Given the description of an element on the screen output the (x, y) to click on. 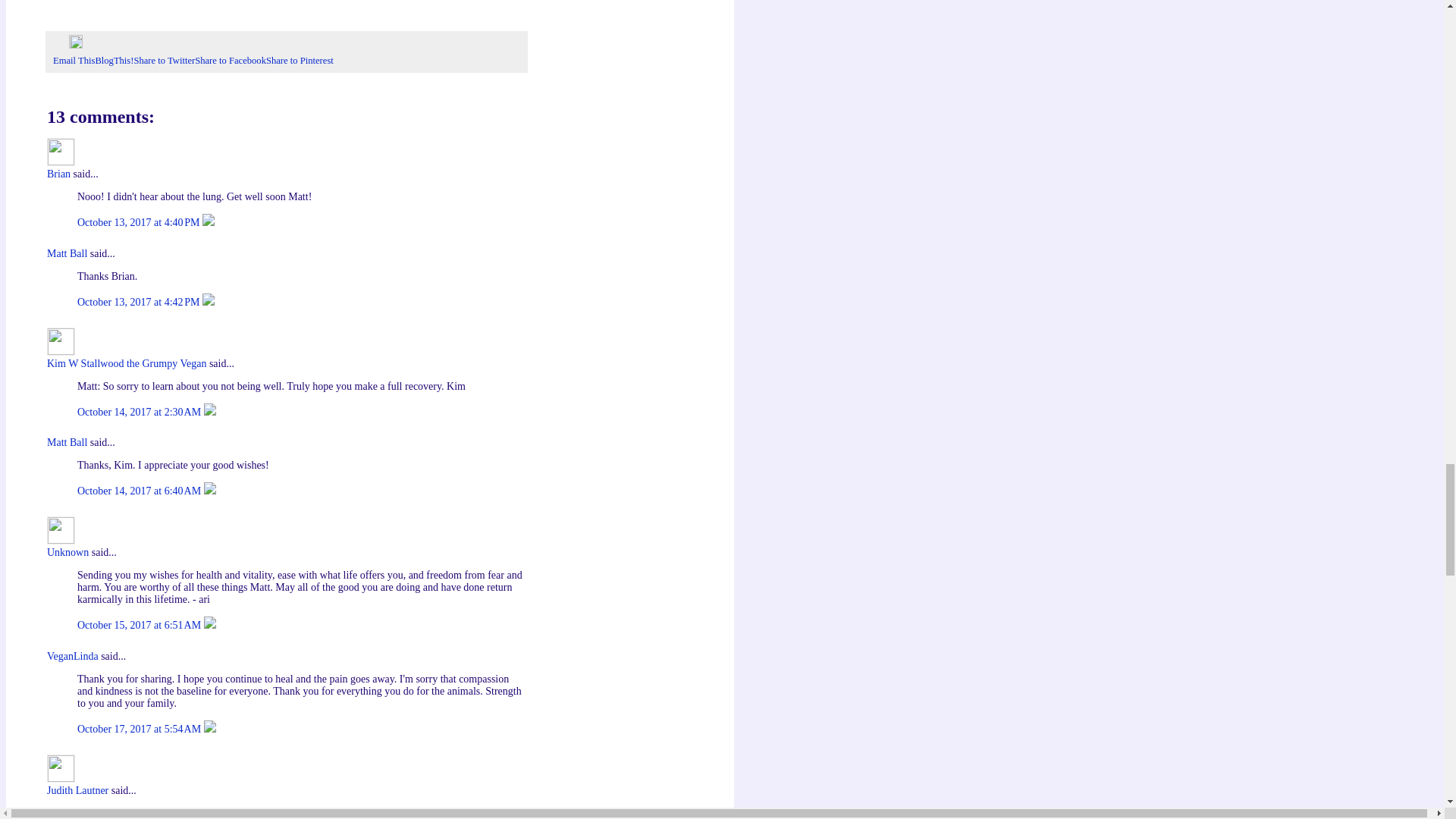
Kim W Stallwood the Grumpy Vegan (60, 341)
BlogThis! (113, 60)
Share to Pinterest (299, 60)
Email Post (60, 45)
Email This (73, 60)
Share to Facebook (230, 60)
Share to Pinterest (299, 60)
comment permalink (140, 411)
comment permalink (139, 301)
Brian (57, 173)
Share to Facebook (230, 60)
Brian (60, 152)
comment permalink (139, 222)
Email This (73, 60)
